Given the description of an element on the screen output the (x, y) to click on. 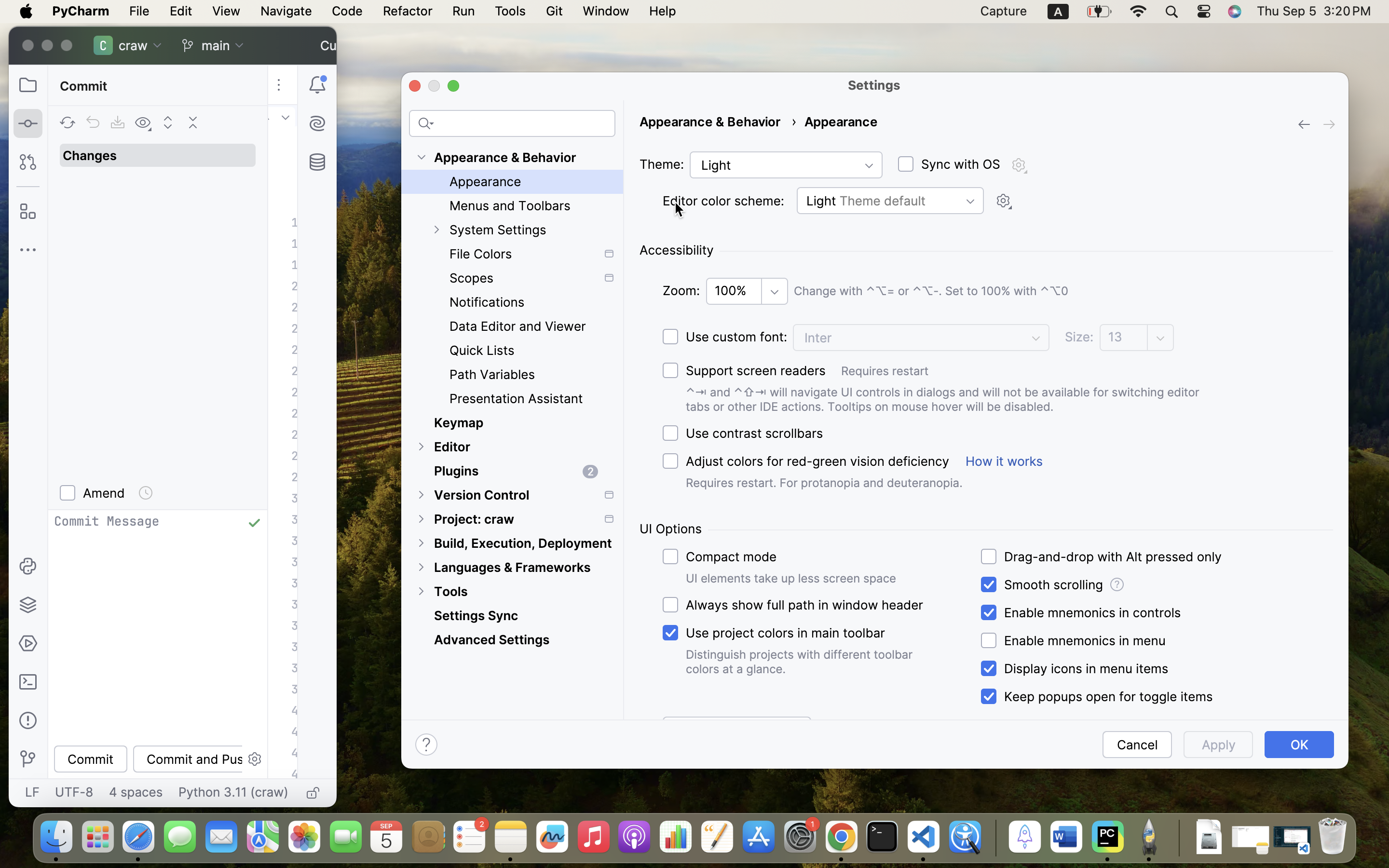
Distinguish projects with different toolbar colors at a glance. Element type: AXTextField (801, 661)
UI Options Element type: AXStaticText (670, 528)
Requires restart Element type: AXTextField (1087, 370)
100% Element type: AXTextField (734, 290)
LafReference(name=Light, themeId=ExperimentalLight) Element type: AXPopUpButton (785, 164)
